Given the description of an element on the screen output the (x, y) to click on. 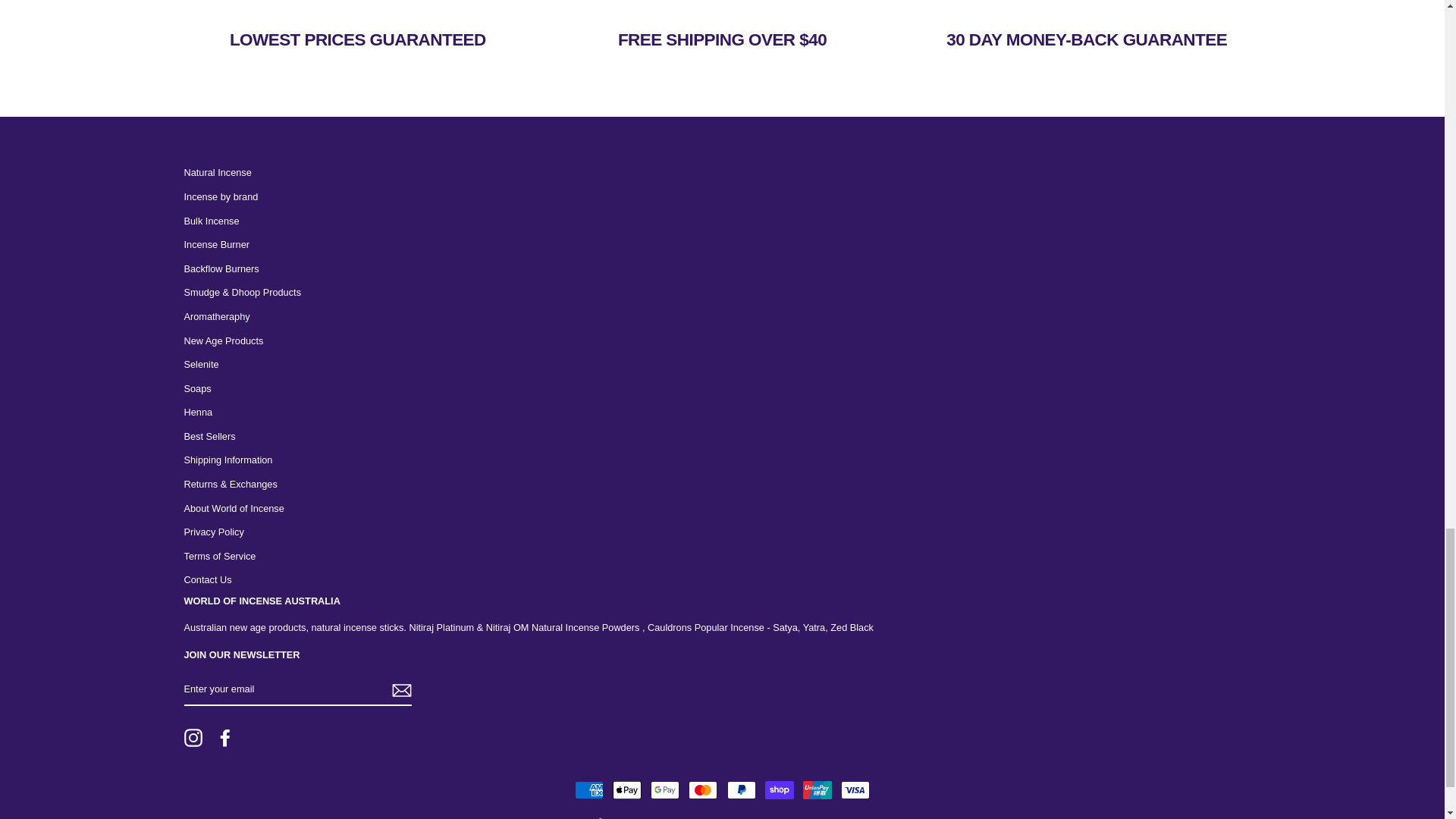
World of Incense on Instagram (192, 737)
World of Incense on Facebook (224, 737)
Apple Pay (627, 790)
Google Pay (664, 790)
American Express (589, 790)
PayPal (740, 790)
Mastercard (702, 790)
